Given the description of an element on the screen output the (x, y) to click on. 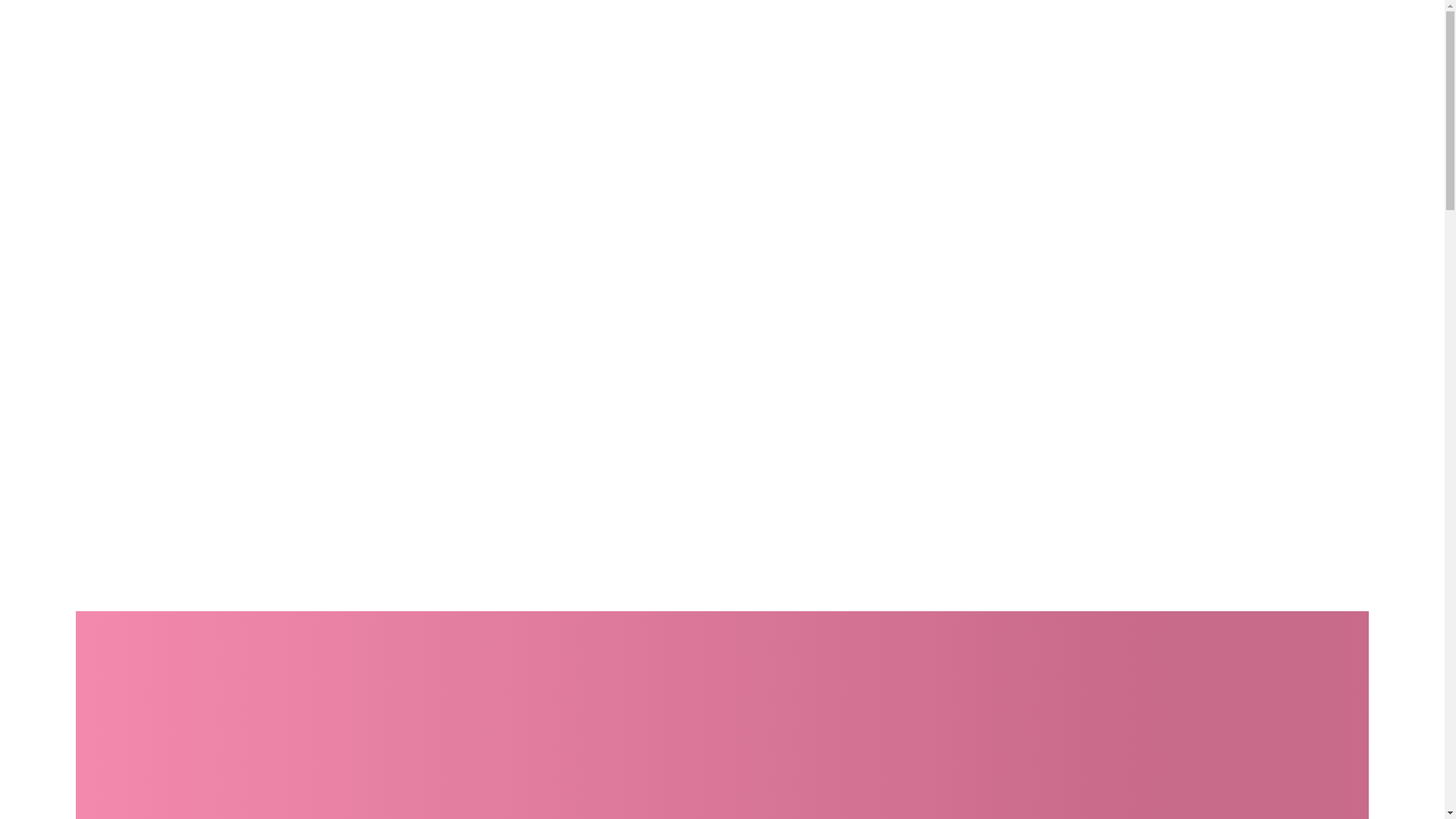
REQUEST CONSULTATION (152, 38)
